Given the description of an element on the screen output the (x, y) to click on. 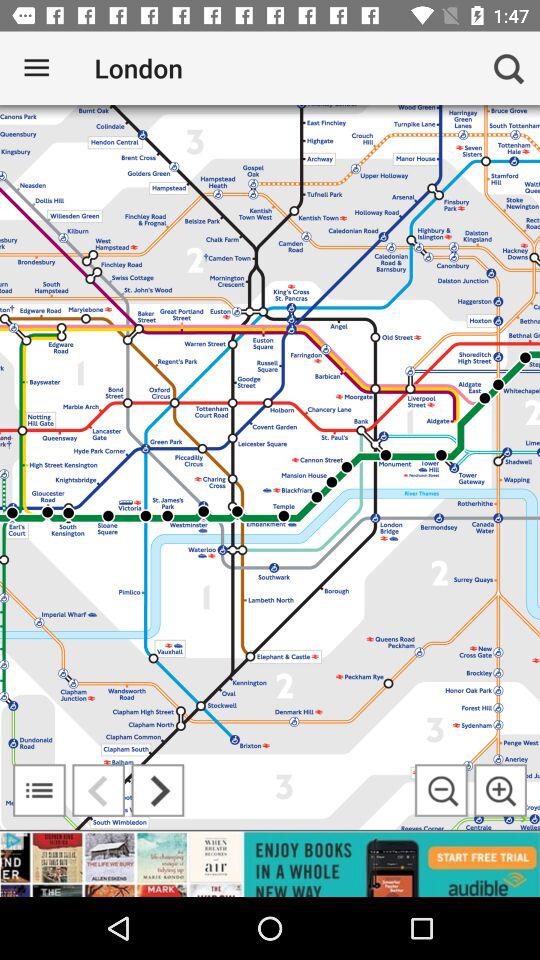
minimize (441, 790)
